Given the description of an element on the screen output the (x, y) to click on. 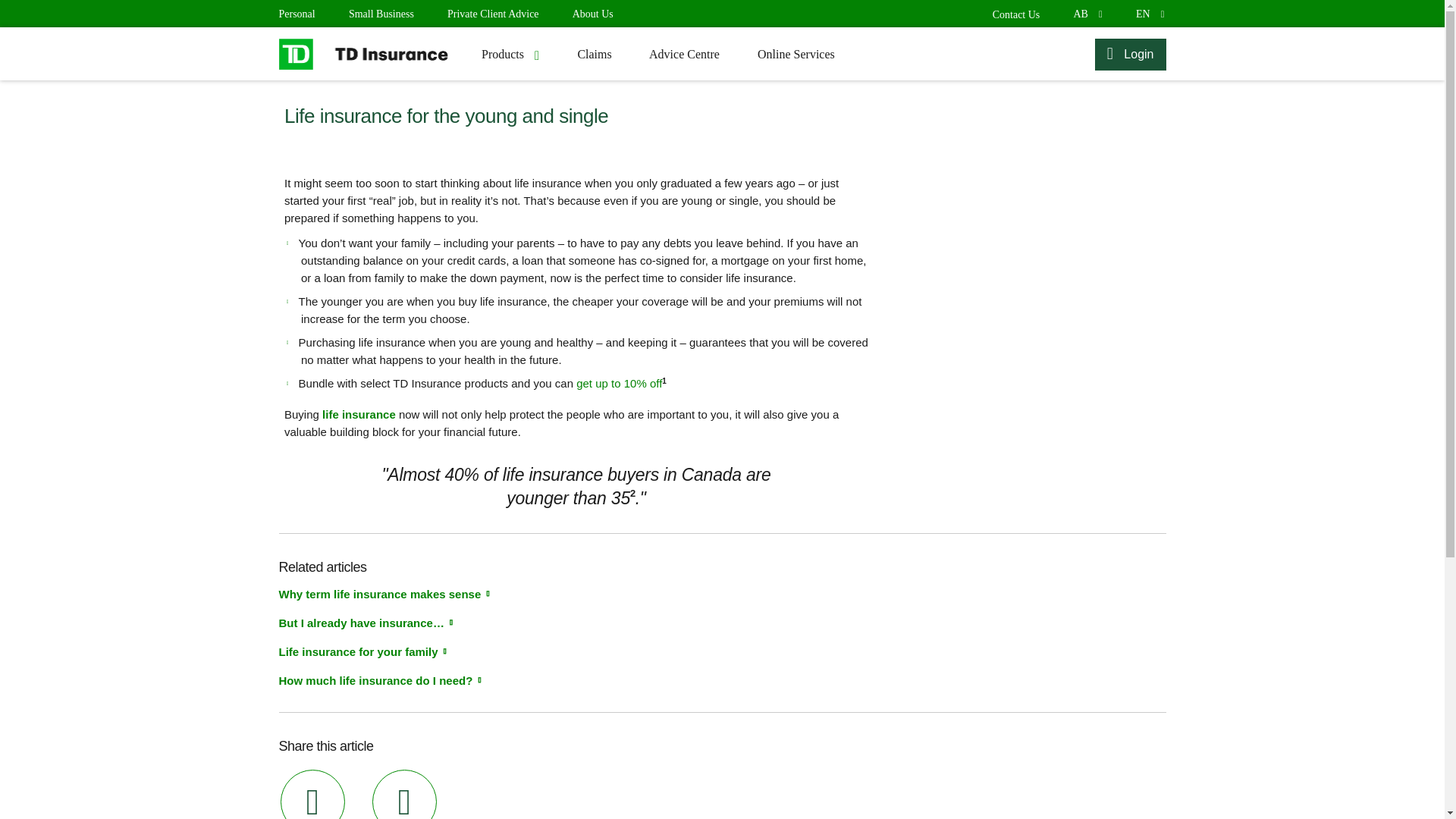
Contact Us (1016, 14)
Small Business (381, 13)
About Us (1148, 13)
Private Client Advice (592, 13)
Products (492, 13)
Skip to main content (509, 53)
